Given the description of an element on the screen output the (x, y) to click on. 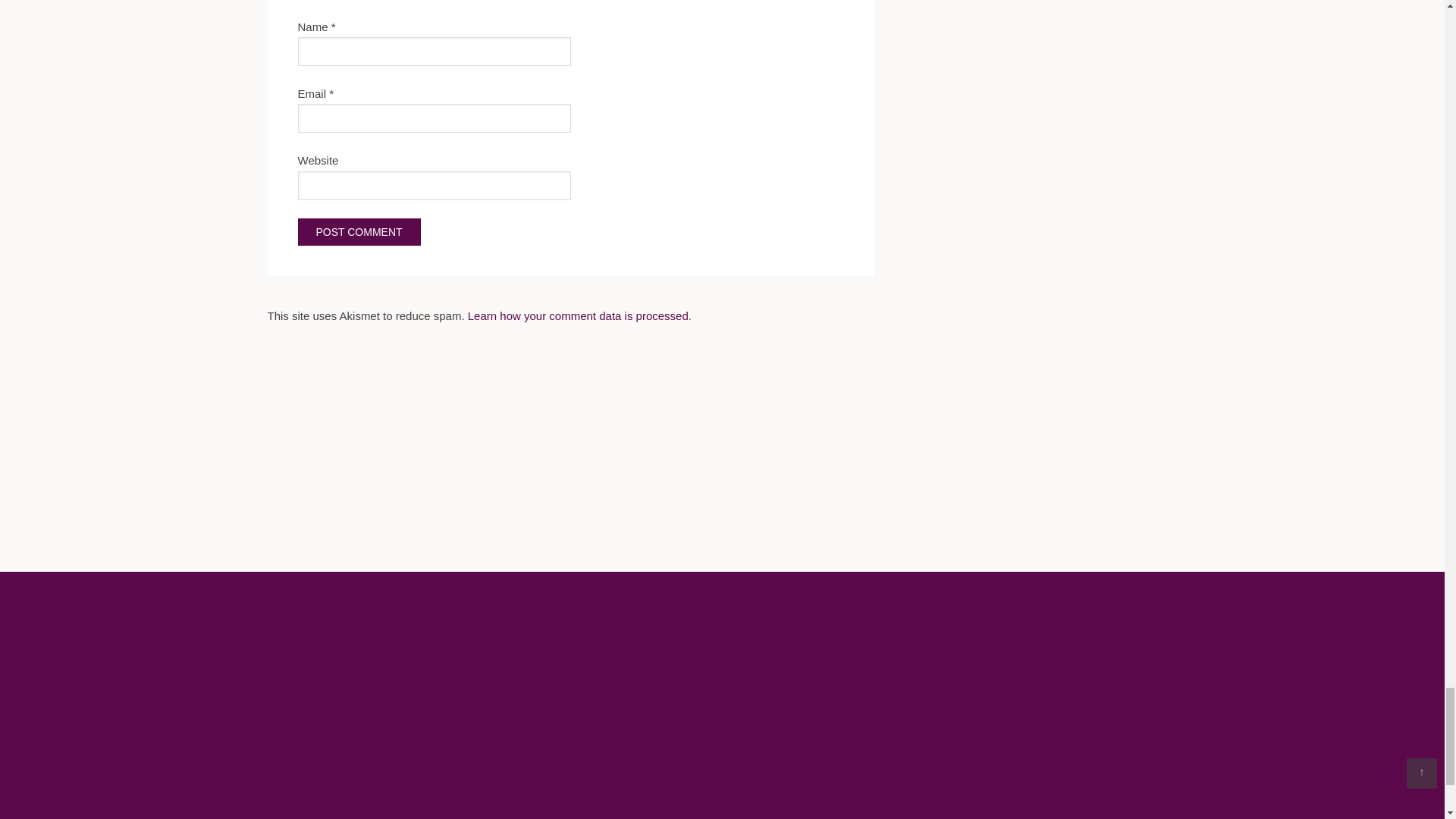
Post Comment (358, 231)
